Given the description of an element on the screen output the (x, y) to click on. 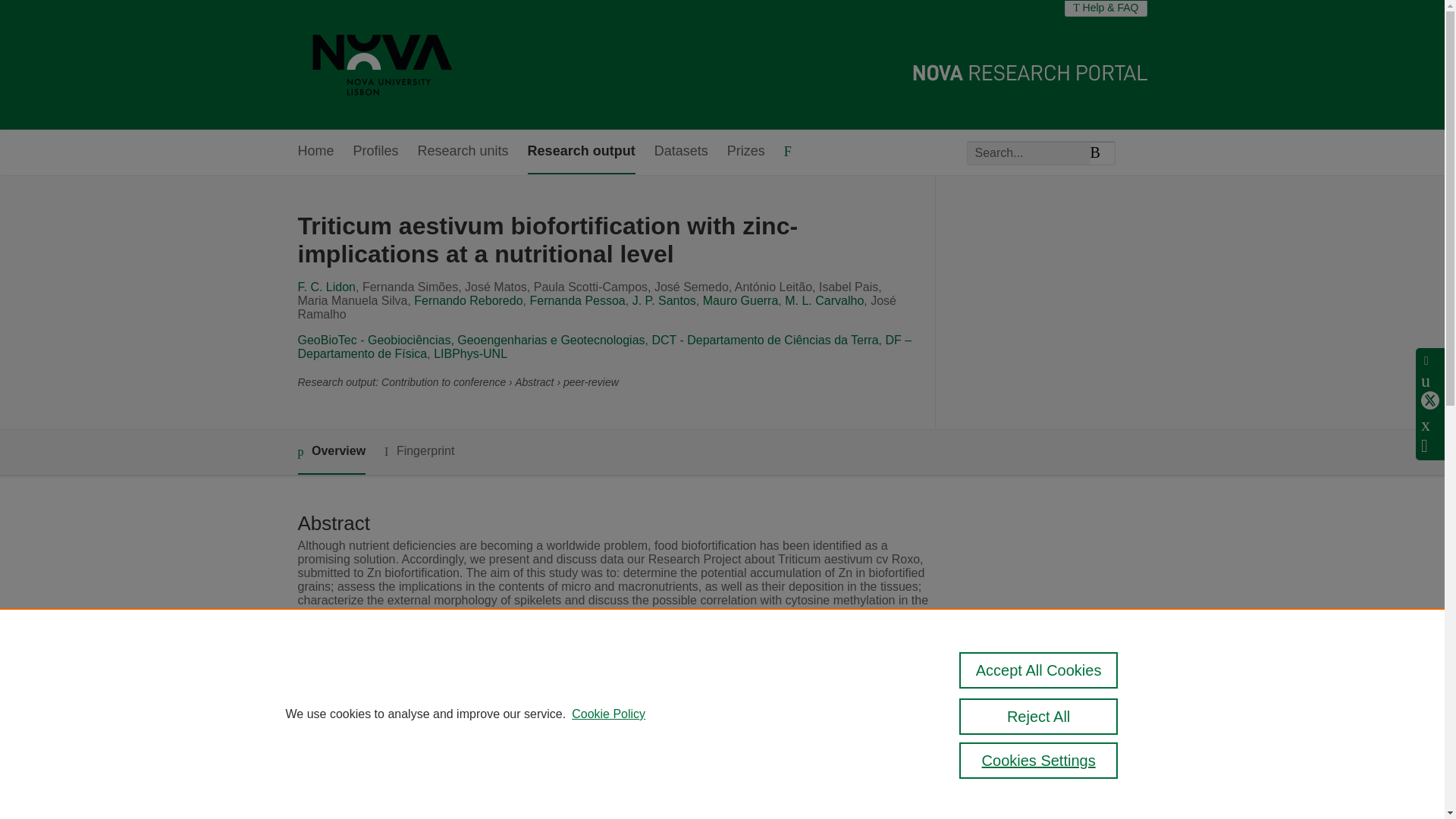
Profiles (375, 151)
F. C. Lidon (326, 286)
Fernanda Pessoa (576, 300)
M. L. Carvalho (823, 300)
Mauro Guerra (740, 300)
Universidade NOVA de Lisboa Home (382, 64)
Research units (462, 151)
Overview (331, 452)
J. P. Santos (663, 300)
